Given the description of an element on the screen output the (x, y) to click on. 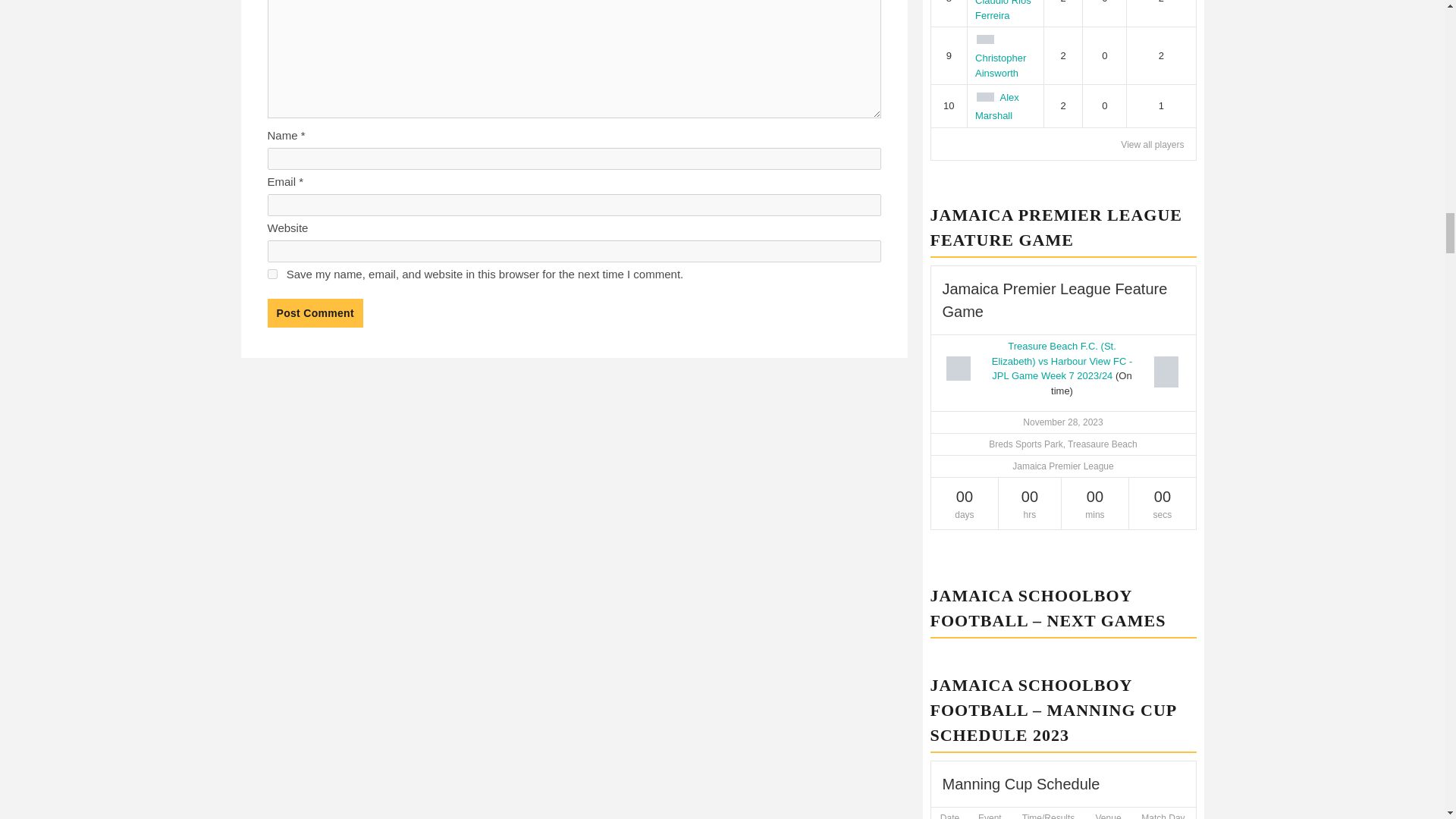
yes (271, 274)
Post Comment (314, 312)
